Given the description of an element on the screen output the (x, y) to click on. 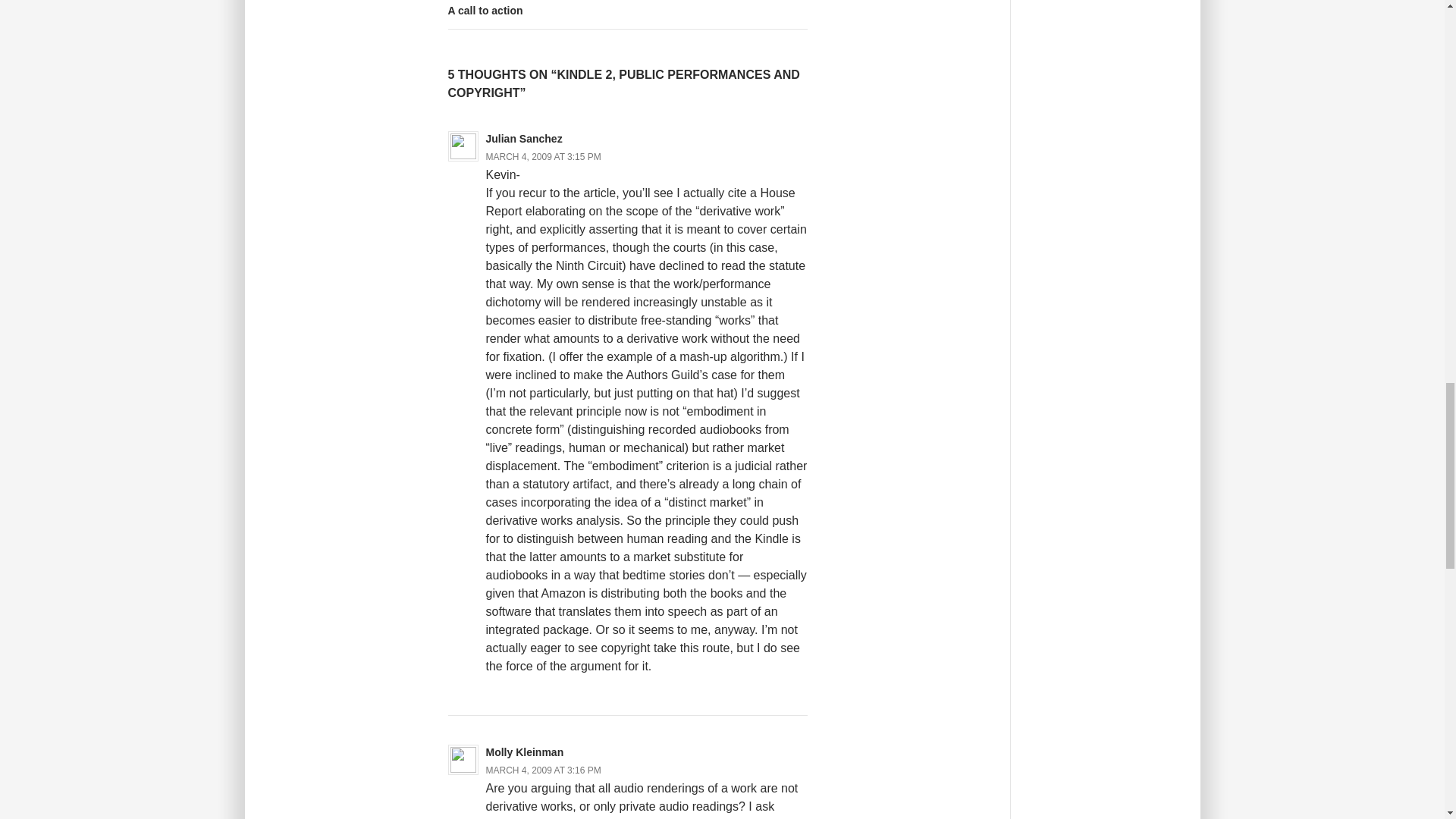
MARCH 4, 2009 AT 3:15 PM (626, 14)
MARCH 4, 2009 AT 3:16 PM (541, 156)
